Given the description of an element on the screen output the (x, y) to click on. 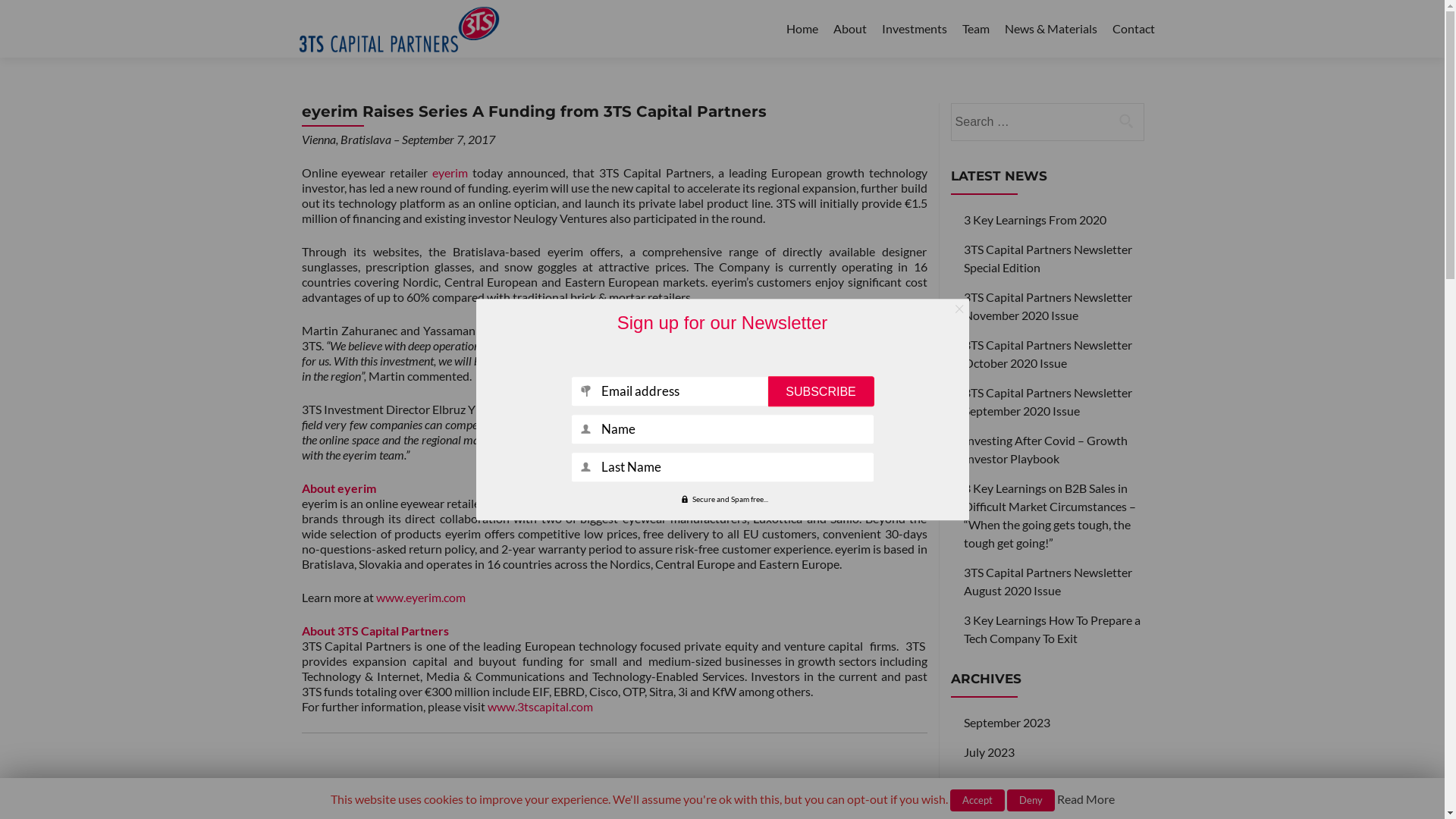
Deny Element type: text (1030, 800)
July 2023 Element type: text (988, 751)
3TS Capital Partners Newsletter August 2020 Issue Element type: text (1047, 580)
Facebook Element type: text (379, 798)
Investments Element type: text (913, 28)
News & Materials Element type: text (1050, 28)
Home Element type: text (801, 28)
Team Element type: text (974, 28)
Search Element type: text (1125, 120)
About Element type: text (849, 28)
eyerim Element type: text (449, 172)
3TS Capital Partners Newsletter October 2020 Issue Element type: text (1047, 353)
June 2023 Element type: text (990, 781)
LinkedIn Element type: text (435, 798)
March 2023 Element type: text (995, 810)
3 Key Learnings How To Prepare a Tech Company To Exit Element type: text (1051, 628)
3 Key Learnings From 2020 Element type: text (1034, 219)
 www.3tscapital.com Element type: text (539, 706)
3TS Capital Partners Newsletter Special Edition Element type: text (1047, 257)
Twitter Element type: text (316, 798)
3TS Capital Partners Newsletter November 2020 Issue Element type: text (1047, 305)
3TS Capital Partners Newsletter September 2020 Issue Element type: text (1047, 401)
September 2023 Element type: text (1006, 722)
Read More Element type: text (1085, 798)
www.eyerim.com Element type: text (420, 596)
Accept Element type: text (976, 800)
Contact Element type: text (1132, 28)
